Given the description of an element on the screen output the (x, y) to click on. 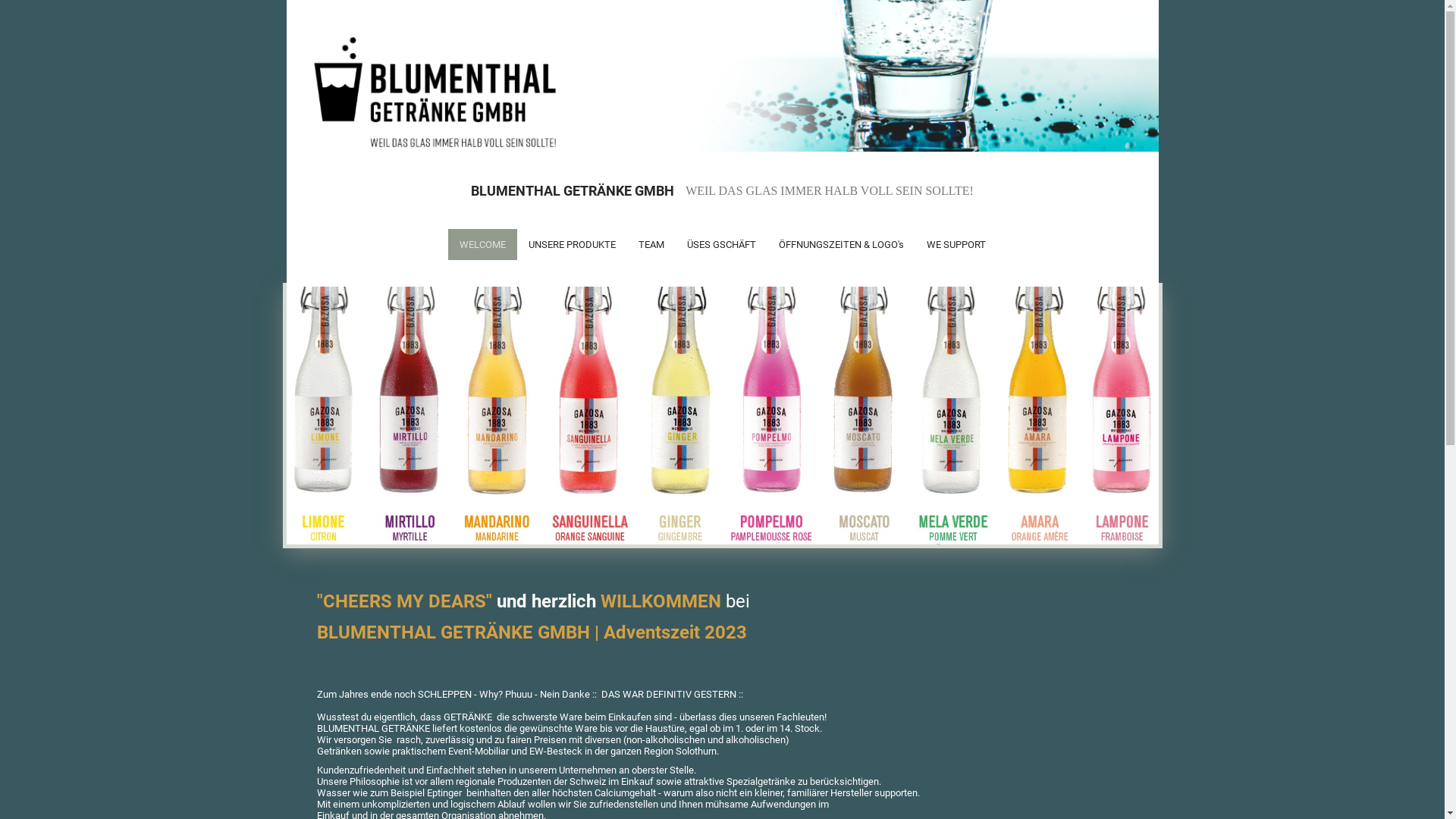
UNSERE PRODUKTE Element type: text (572, 244)
TEAM Element type: text (650, 244)
WELCOME Element type: text (481, 244)
WE SUPPORT Element type: text (955, 244)
